Given the description of an element on the screen output the (x, y) to click on. 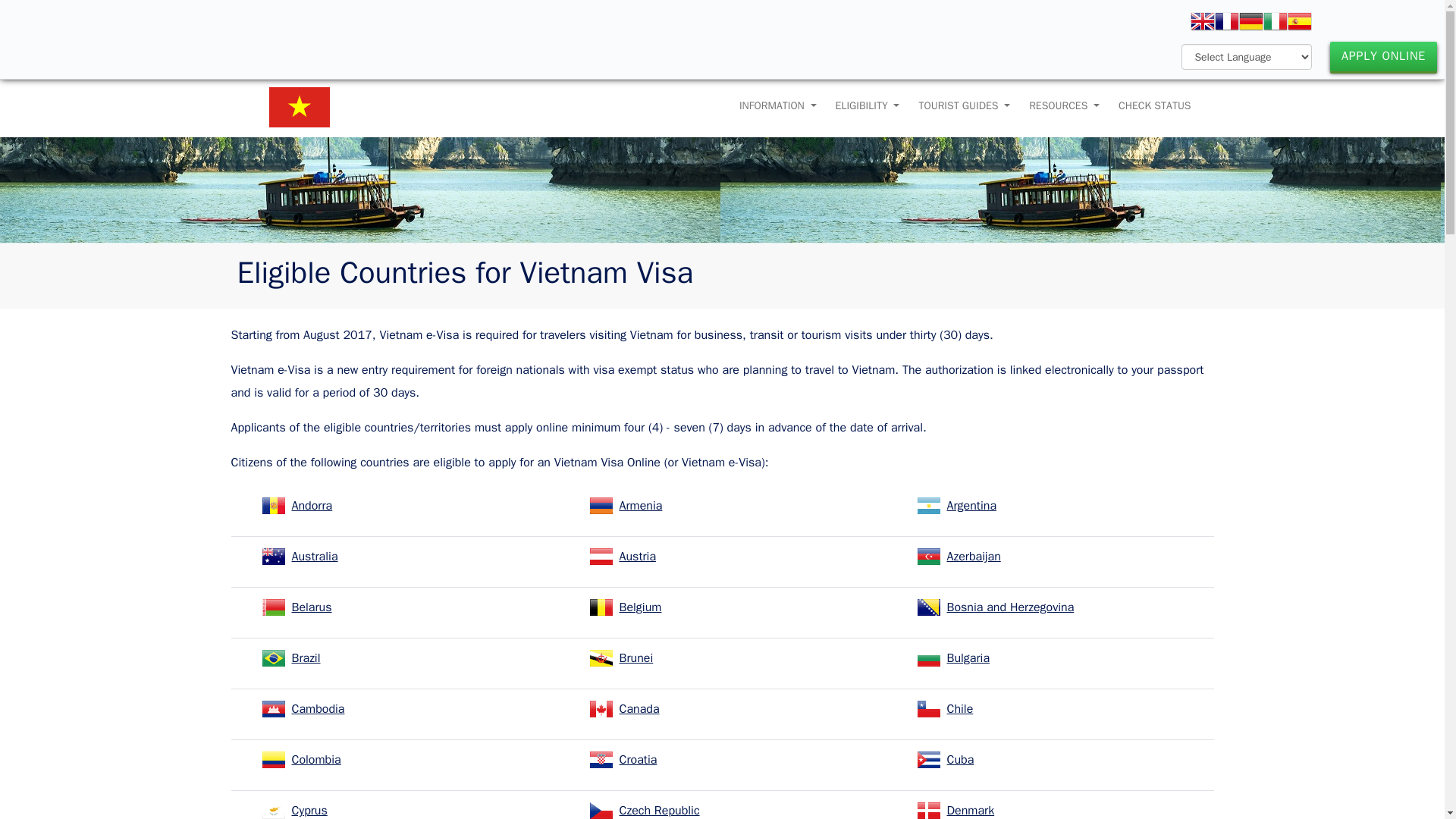
INFORMATION (778, 106)
APPLY ONLINE (1383, 56)
TOURIST GUIDES (964, 106)
ELIGIBILITY (867, 106)
Vietnam Visa Online (298, 84)
